Given the description of an element on the screen output the (x, y) to click on. 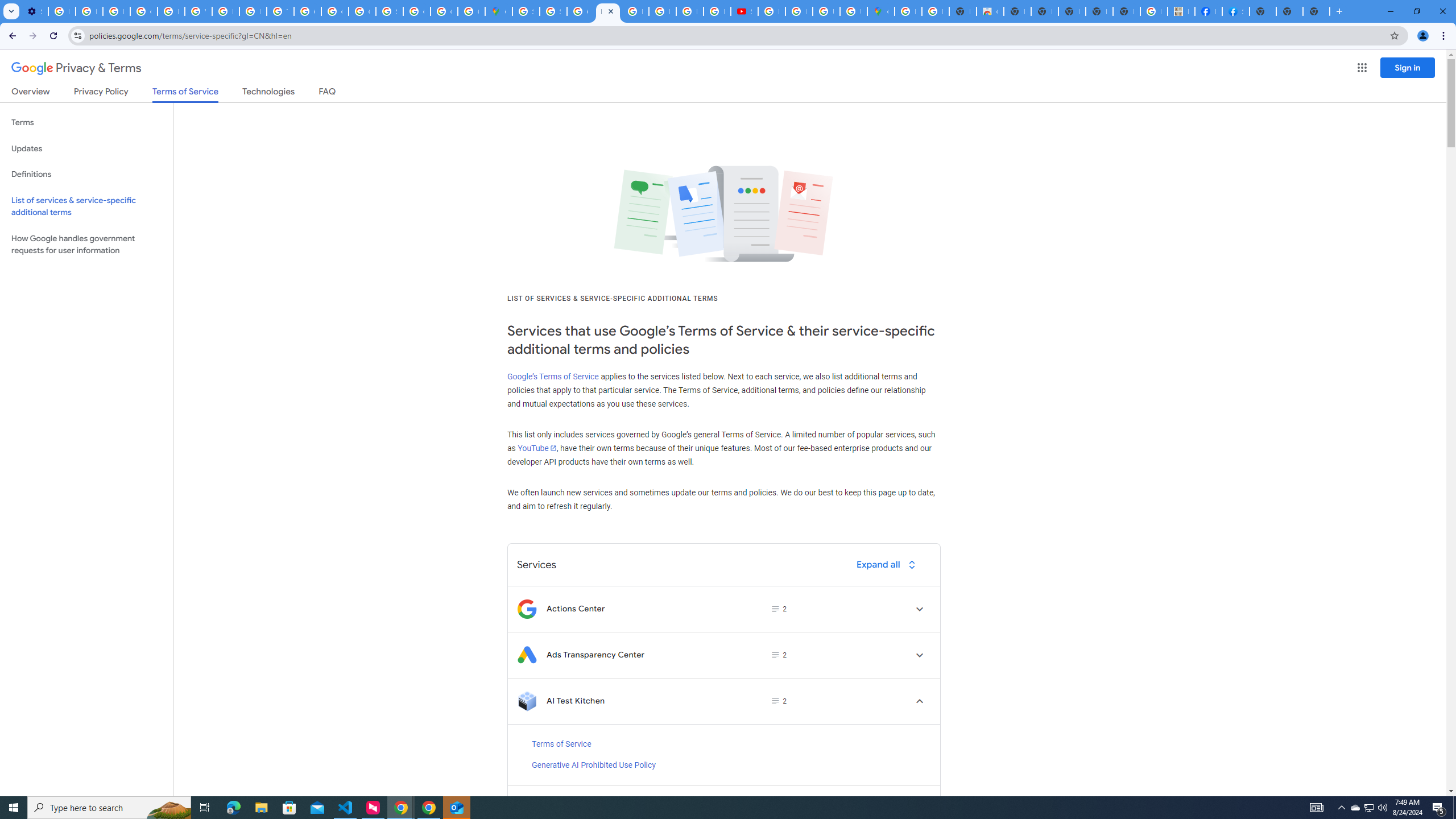
Privacy Help Center - Policies Help (170, 11)
Logo for Ads Transparency Center (526, 654)
MILEY CYRUS. (1180, 11)
Sign in - Google Accounts (553, 11)
Blogger Policies and Guidelines - Transparency Center (634, 11)
Sign in - Google Accounts (525, 11)
Google Maps (498, 11)
